Given the description of an element on the screen output the (x, y) to click on. 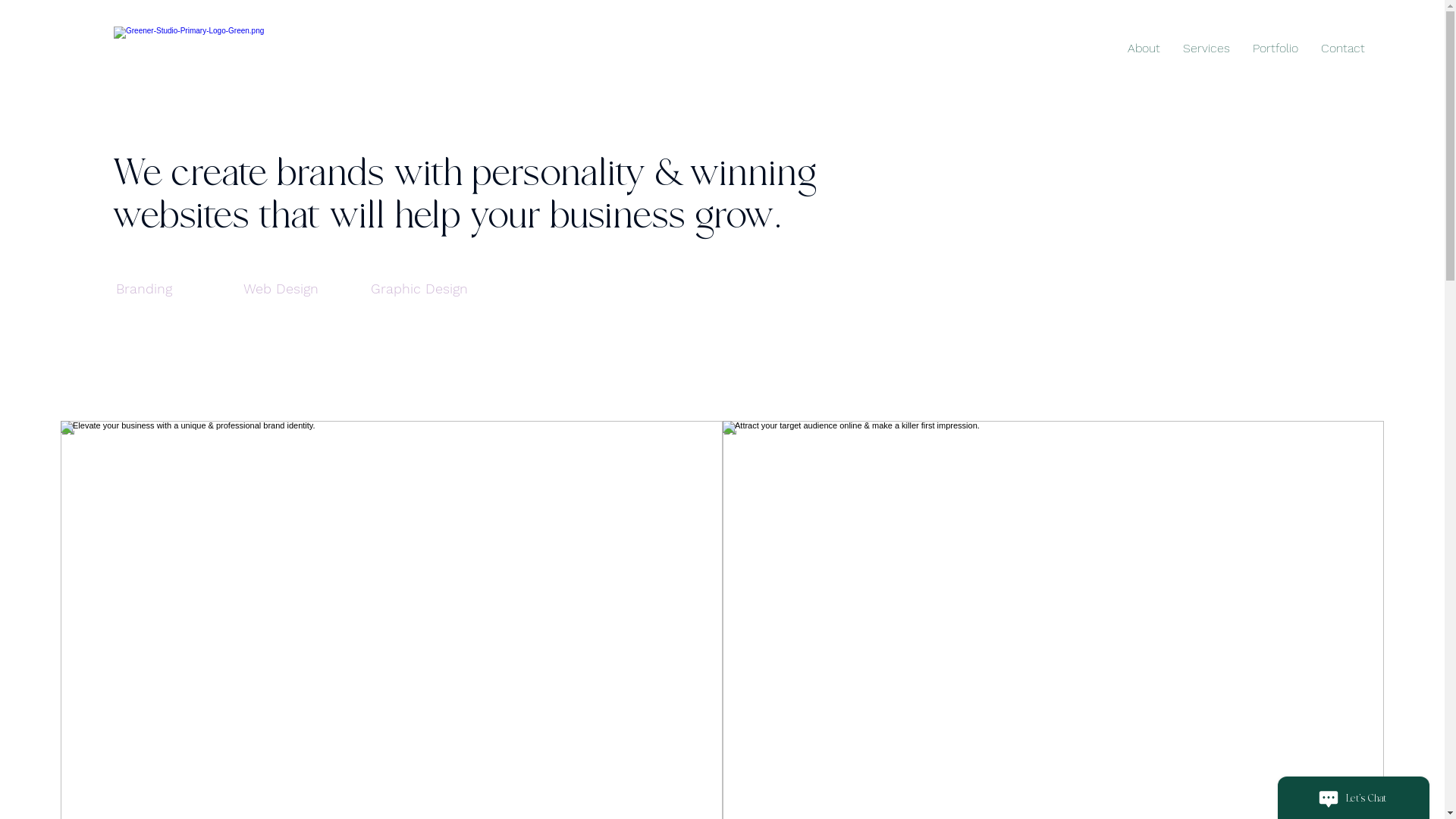
About Element type: text (1143, 48)
Services Element type: text (1206, 48)
Contact Element type: text (1342, 48)
Branding Element type: text (174, 288)
Graphic Design Element type: text (429, 288)
Portfolio Element type: text (1275, 48)
Web Design Element type: text (301, 288)
